Given the description of an element on the screen output the (x, y) to click on. 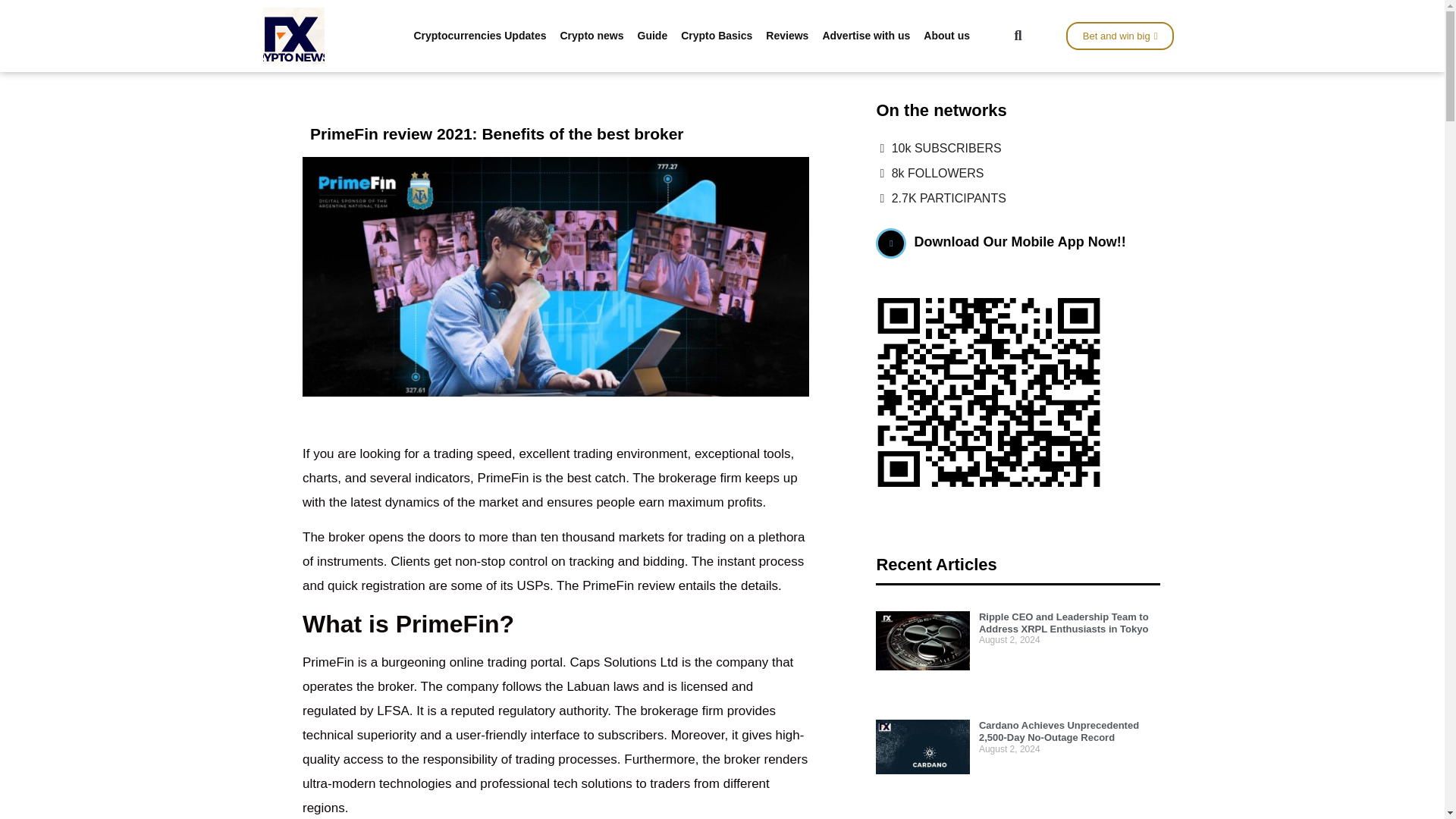
Reviews (786, 35)
Advertise with us (866, 35)
Crypto news (591, 35)
About us (946, 35)
Cryptocurrencies Updates (479, 35)
Bet and win big (1119, 35)
Crypto Basics (716, 35)
Guide (652, 35)
